Given the description of an element on the screen output the (x, y) to click on. 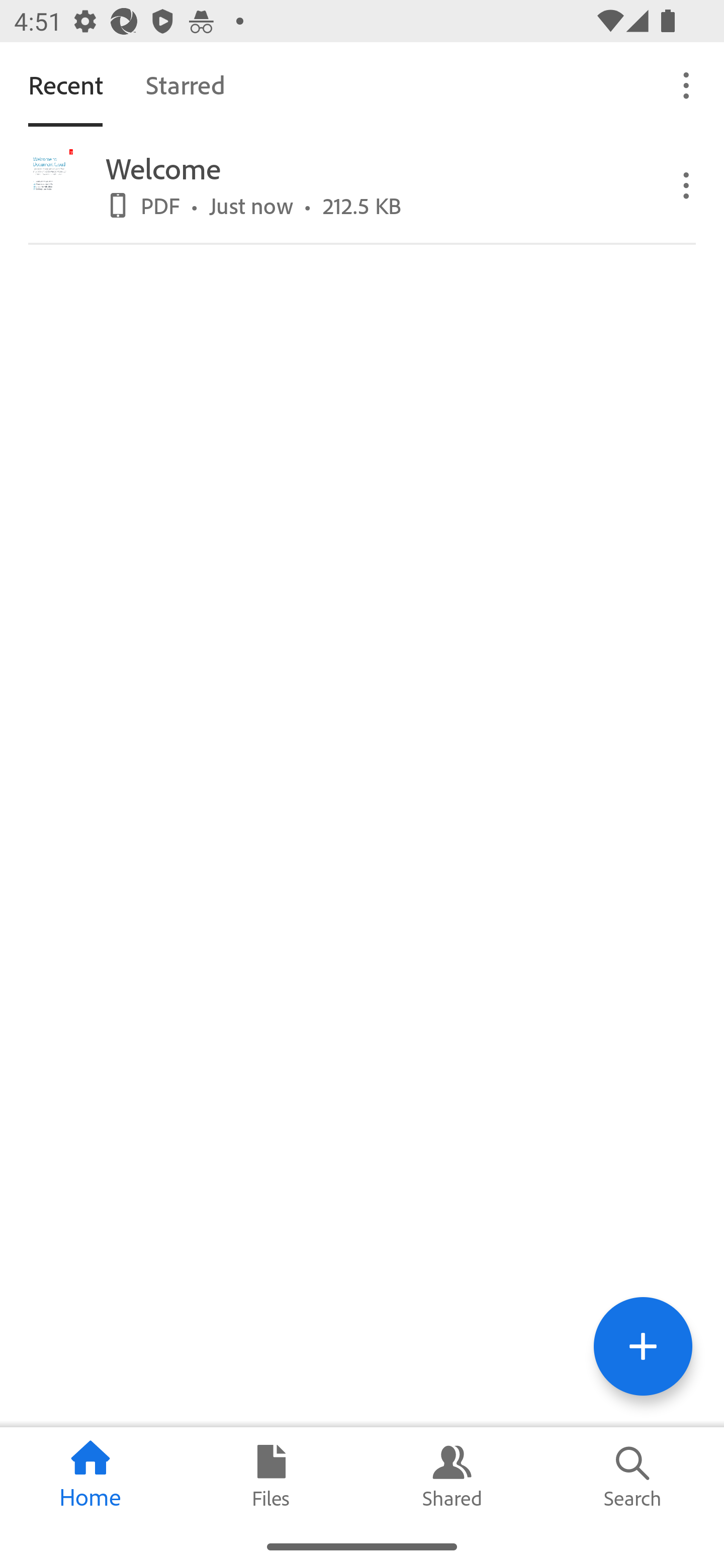
Recent (65, 84)
Starred (185, 84)
Overflow (687, 84)
Overflow (687, 184)
Tools (642, 1345)
Home (90, 1475)
Files (271, 1475)
Shared (452, 1475)
Search (633, 1475)
